Given the description of an element on the screen output the (x, y) to click on. 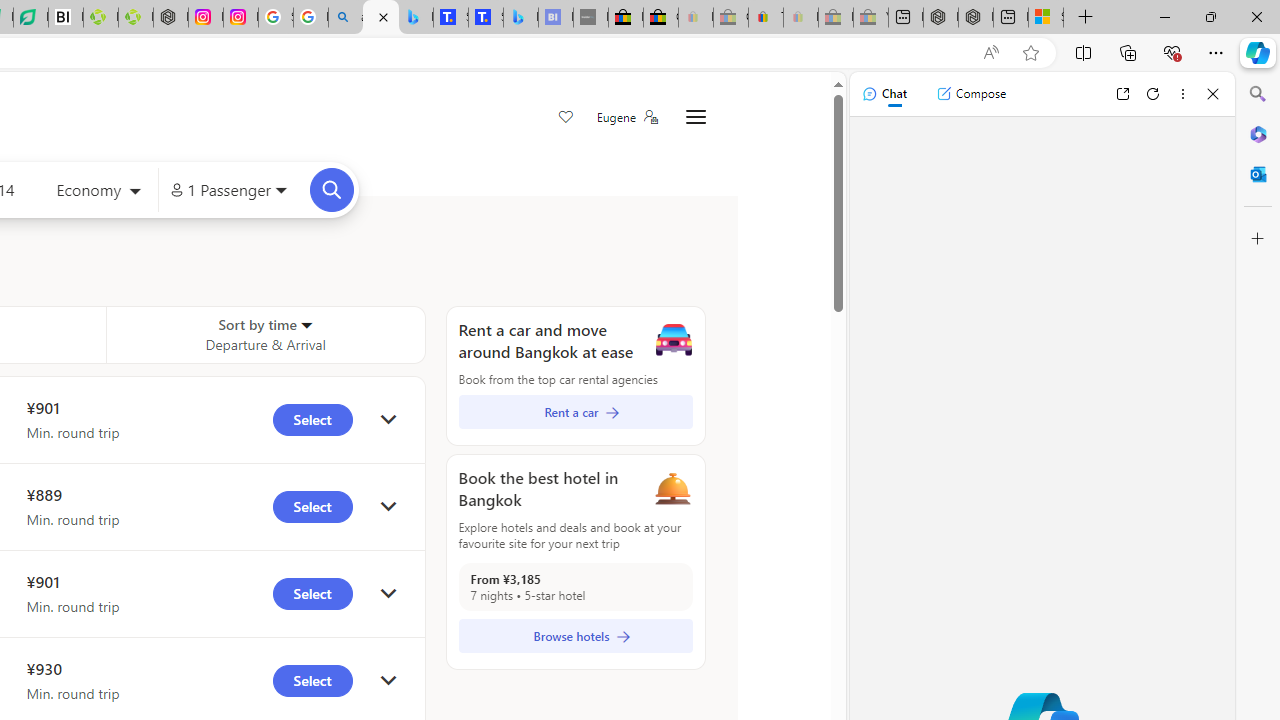
Safety in Our Products - Google Safety Center (275, 17)
Payments Terms of Use | eBay.com - Sleeping (800, 17)
Press Room - eBay Inc. - Sleeping (835, 17)
LendingTree - Compare Lenders (31, 17)
Rent a car (575, 412)
Save (565, 118)
Sorter (306, 324)
Open link in new tab (1122, 93)
